Given the description of an element on the screen output the (x, y) to click on. 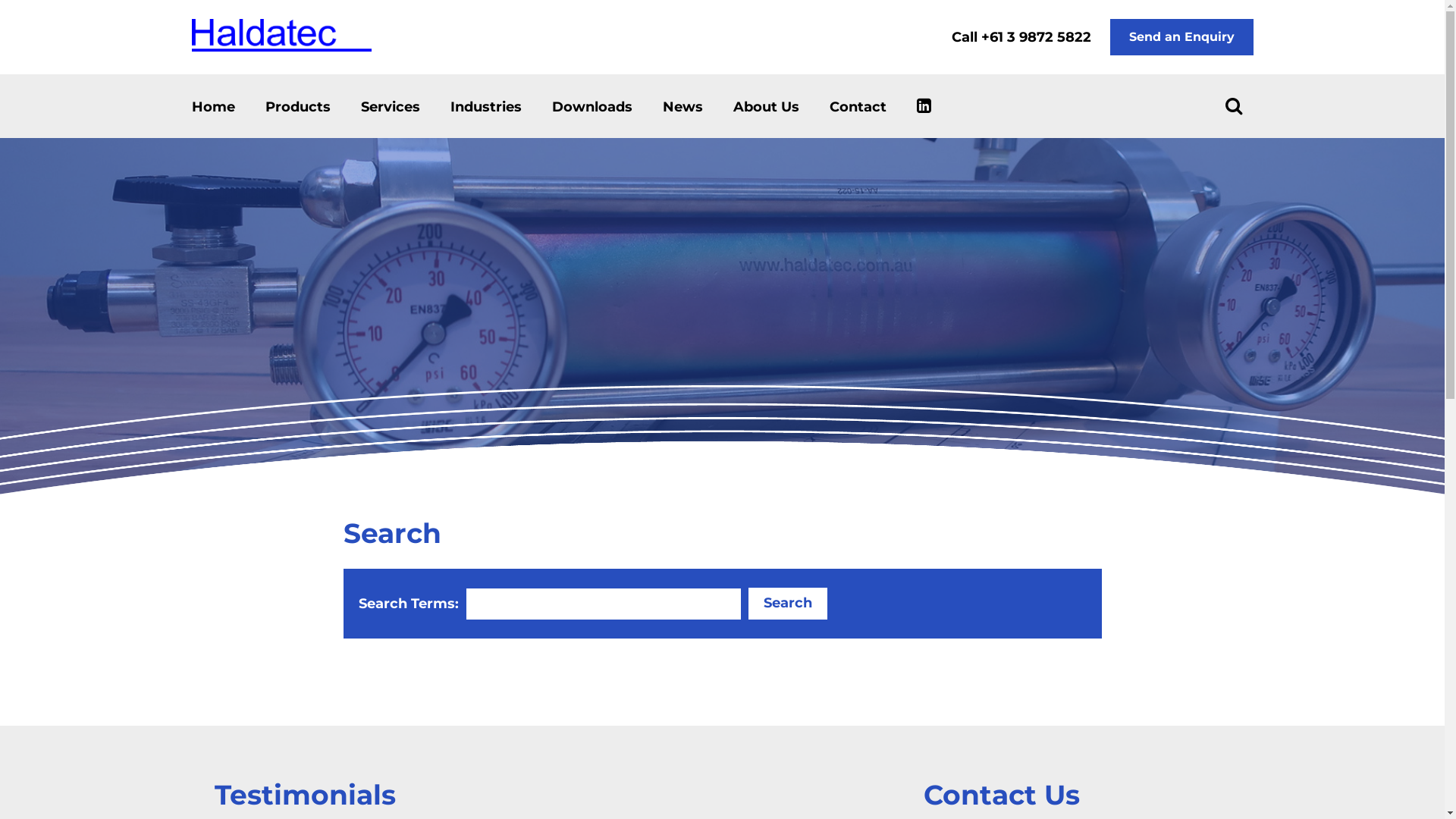
Industries Element type: text (485, 106)
Home Element type: text (212, 106)
News Element type: text (682, 106)
Search Element type: text (786, 603)
Send an Enquiry Element type: text (1181, 36)
Products Element type: text (297, 106)
About Us Element type: text (765, 106)
Call +61 3 9872 5822 Element type: text (1020, 36)
Contact Element type: text (857, 106)
SEARCH Element type: text (1232, 105)
LinkedIn Element type: text (923, 102)
Services Element type: text (390, 106)
Downloads Element type: text (592, 106)
